Given the description of an element on the screen output the (x, y) to click on. 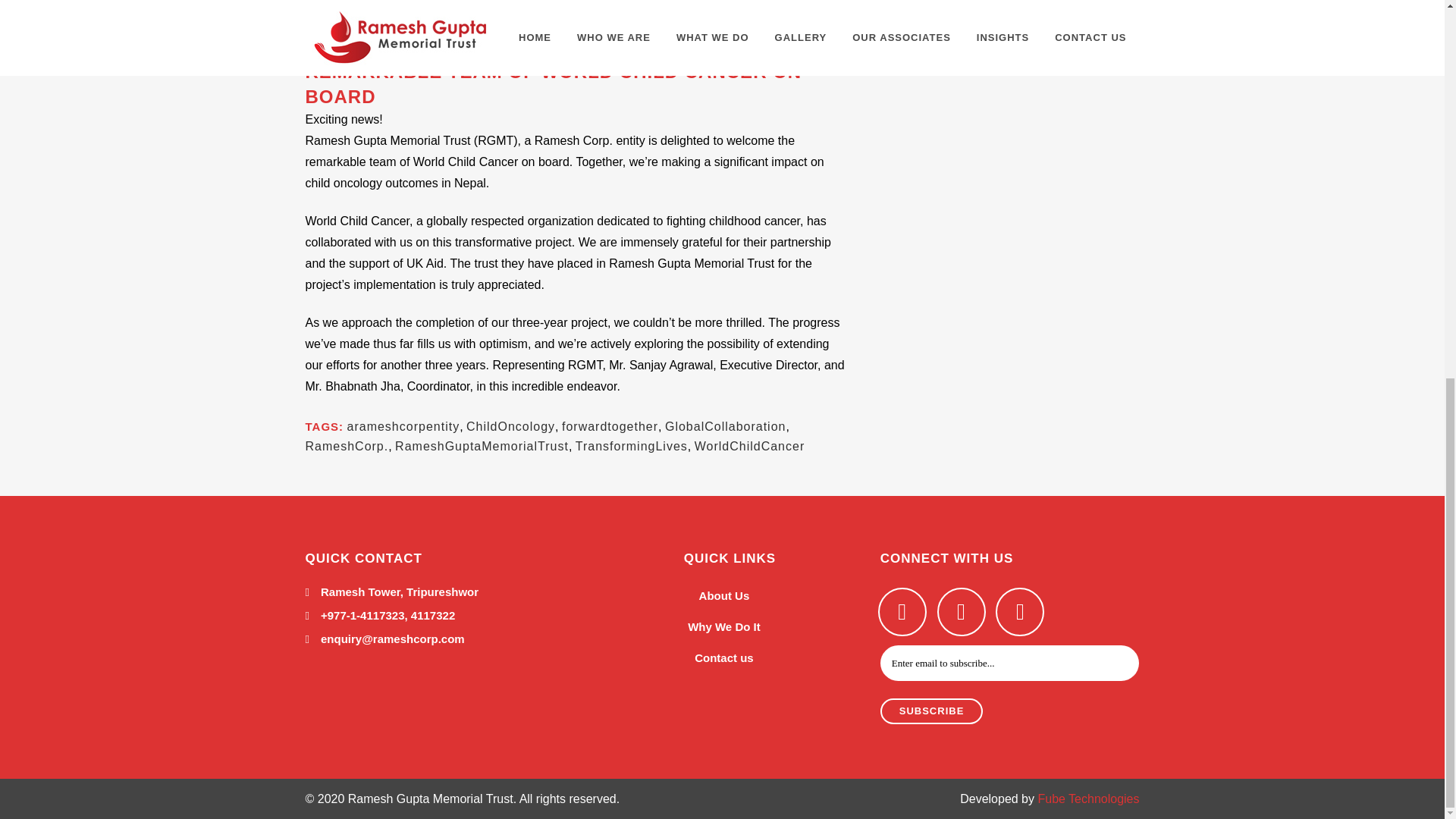
Subscribe (932, 710)
